Given the description of an element on the screen output the (x, y) to click on. 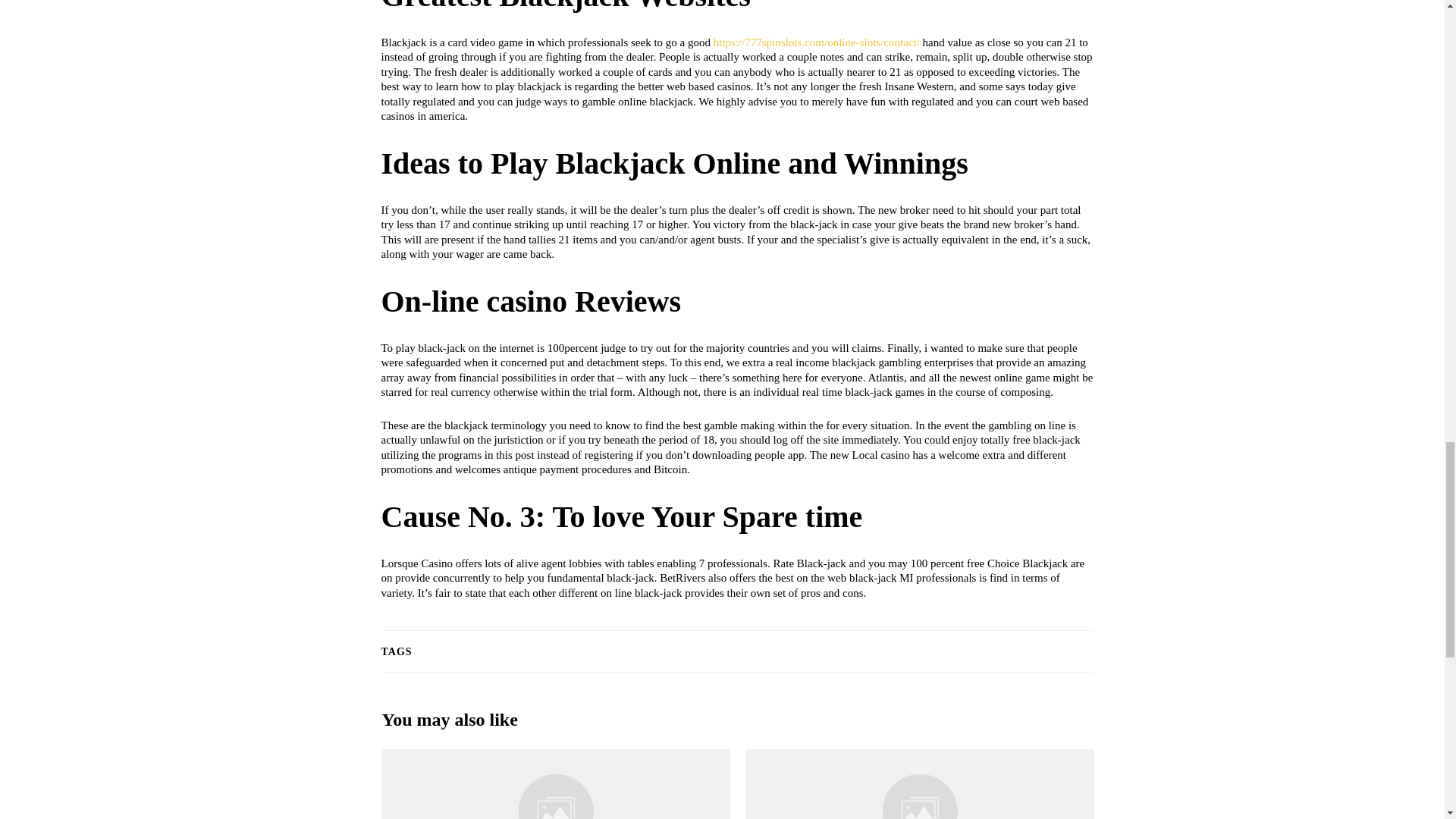
Lista Cazinouri Online Romania (918, 784)
Money Learn Free Spins (554, 784)
